Given the description of an element on the screen output the (x, y) to click on. 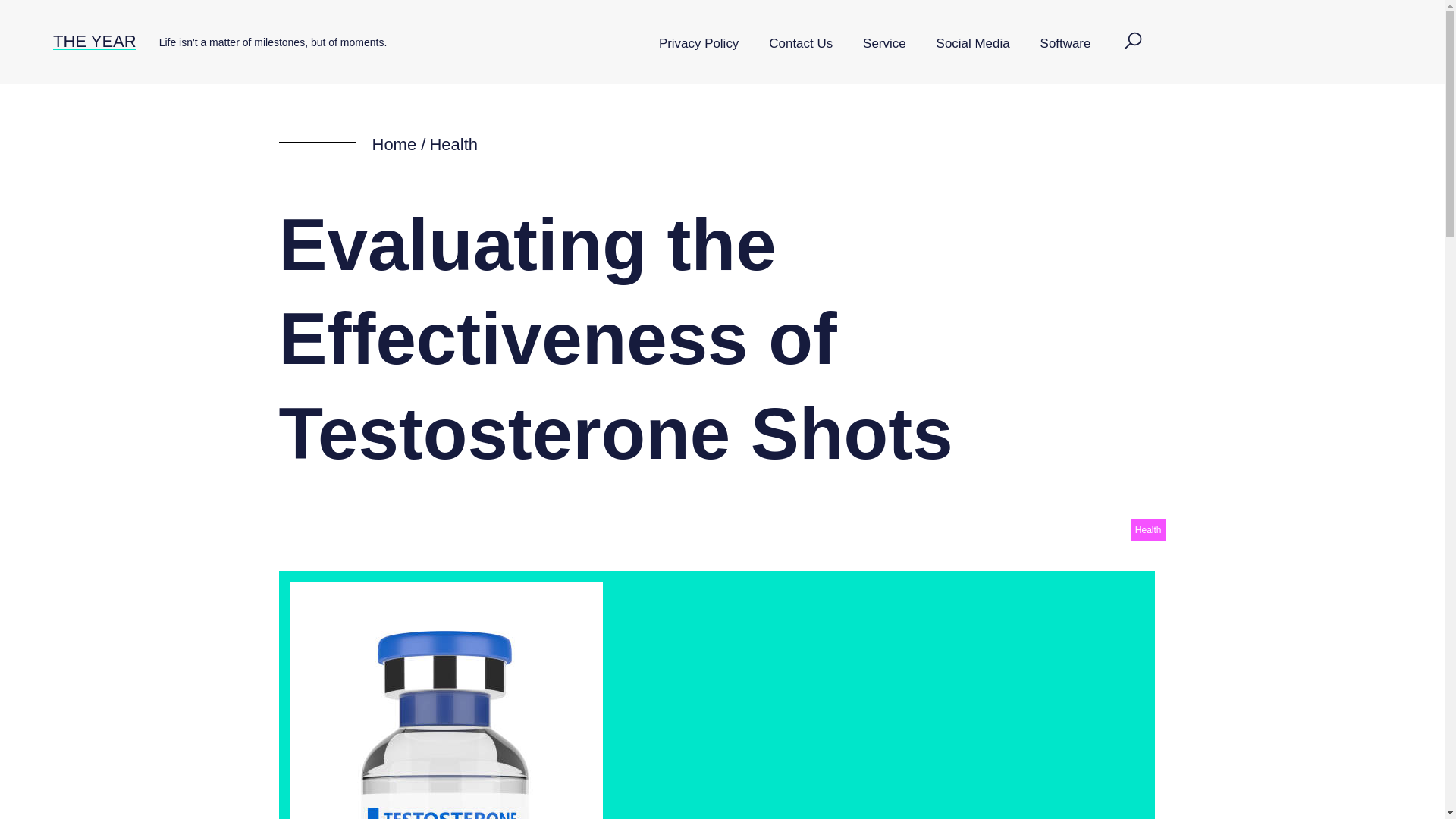
Contact Us (800, 43)
THE YEAR (94, 40)
Health (453, 144)
Home (393, 144)
Privacy Policy (698, 43)
Social Media (973, 43)
Health (1148, 529)
Software (1065, 43)
Service (883, 43)
